Given the description of an element on the screen output the (x, y) to click on. 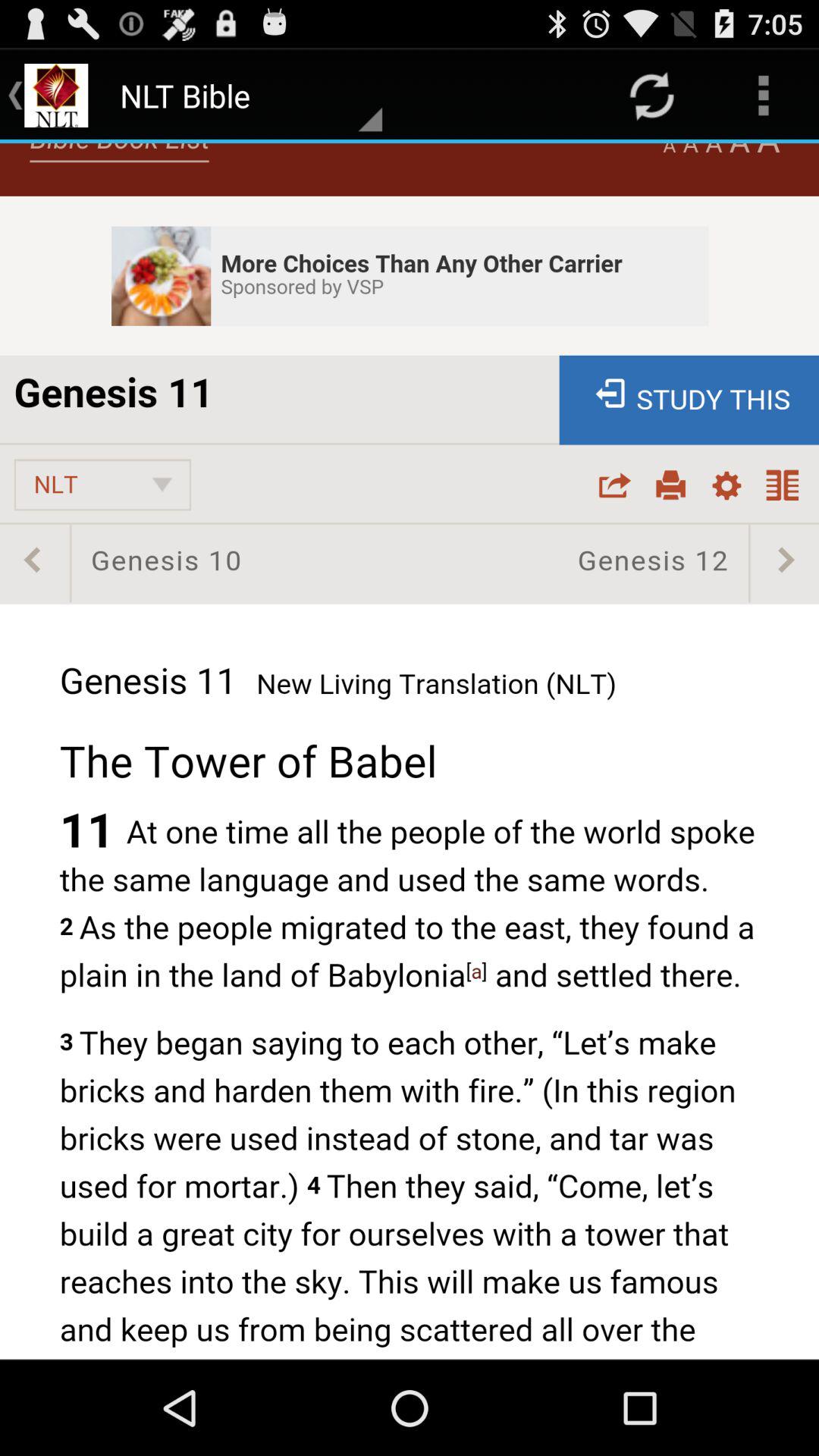
select link (409, 751)
